Given the description of an element on the screen output the (x, y) to click on. 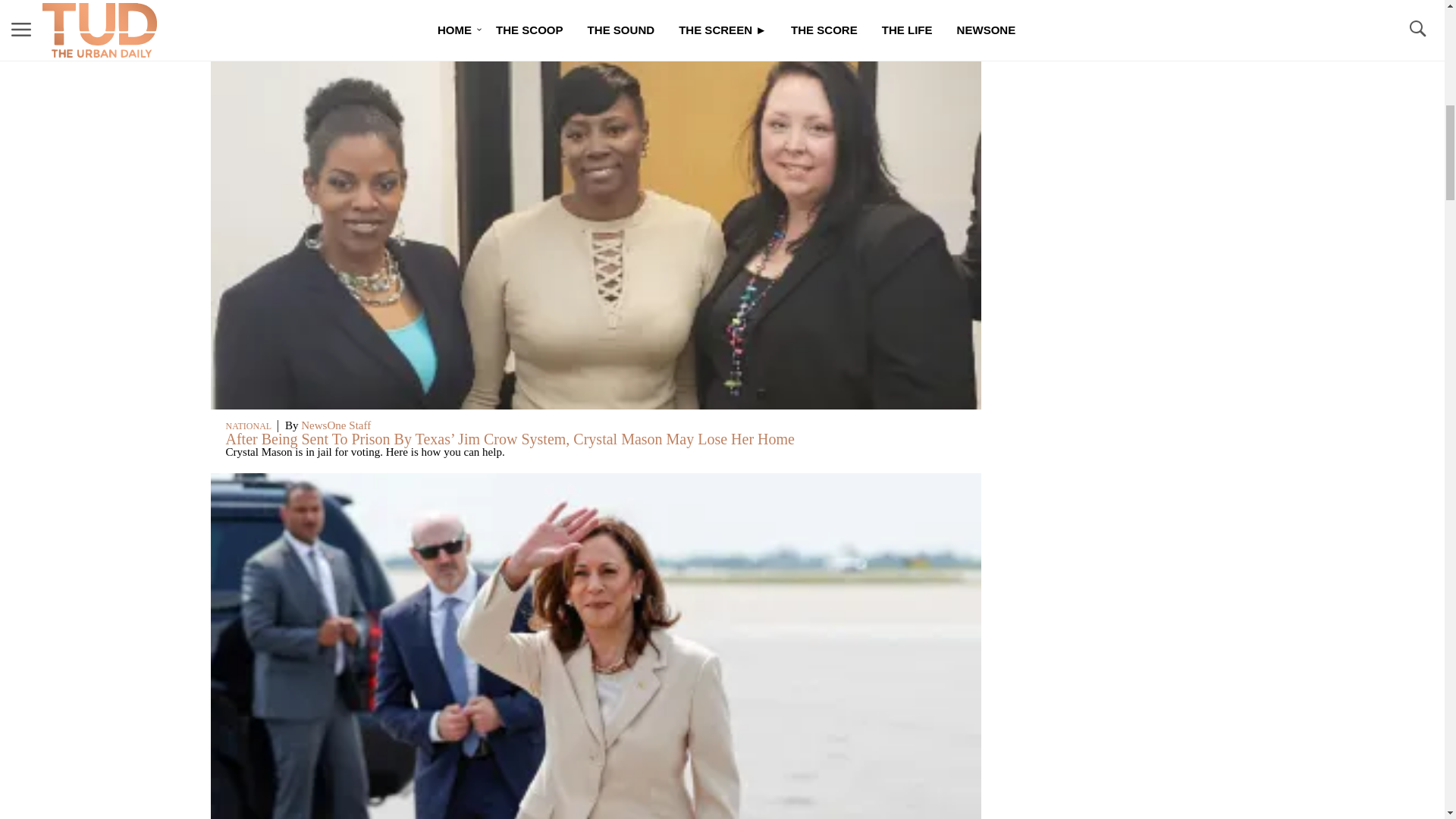
NewsOne Staff (336, 425)
NATIONAL (247, 425)
